Given the description of an element on the screen output the (x, y) to click on. 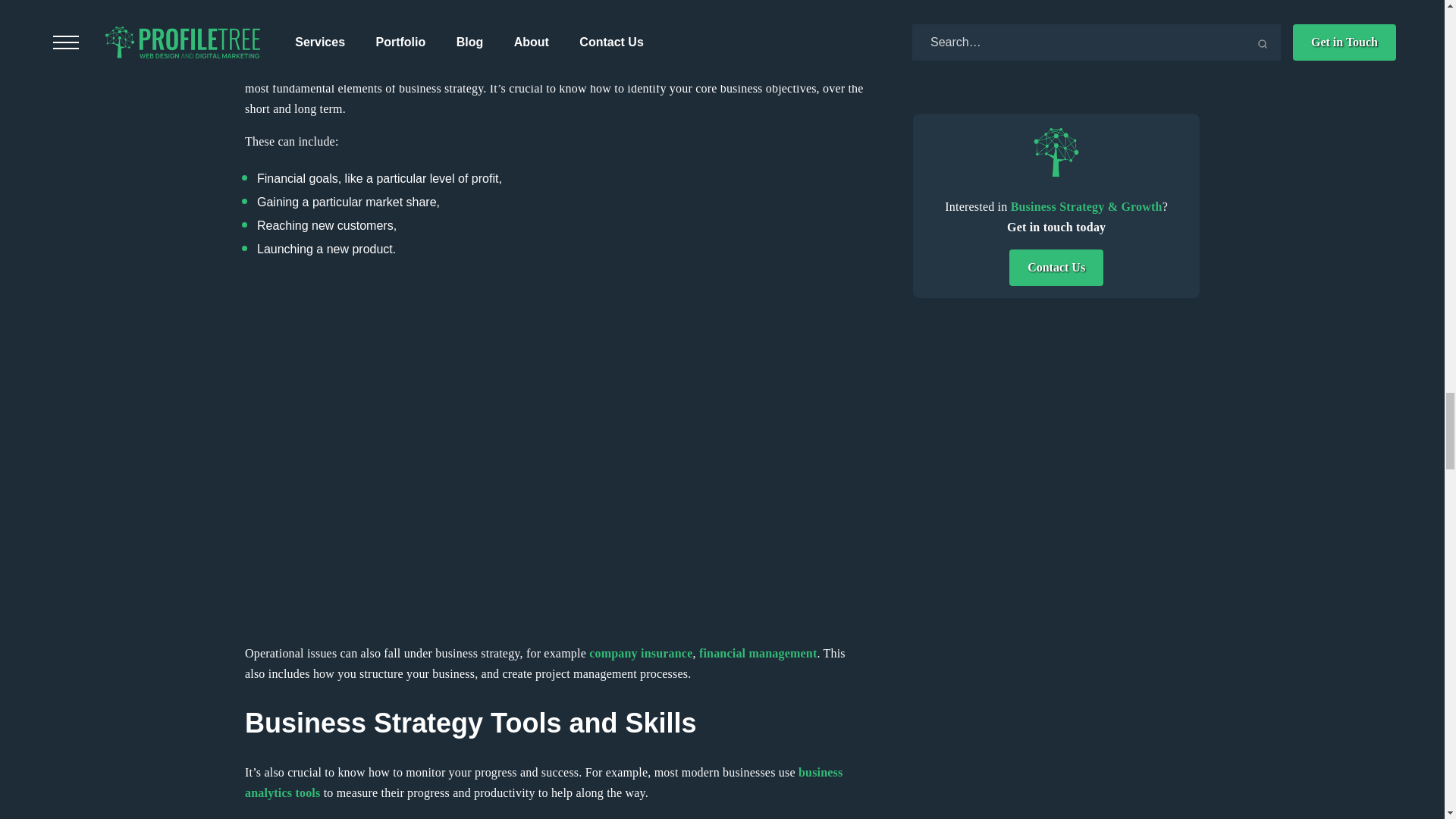
strategies (479, 14)
business objectives (358, 67)
